Given the description of an element on the screen output the (x, y) to click on. 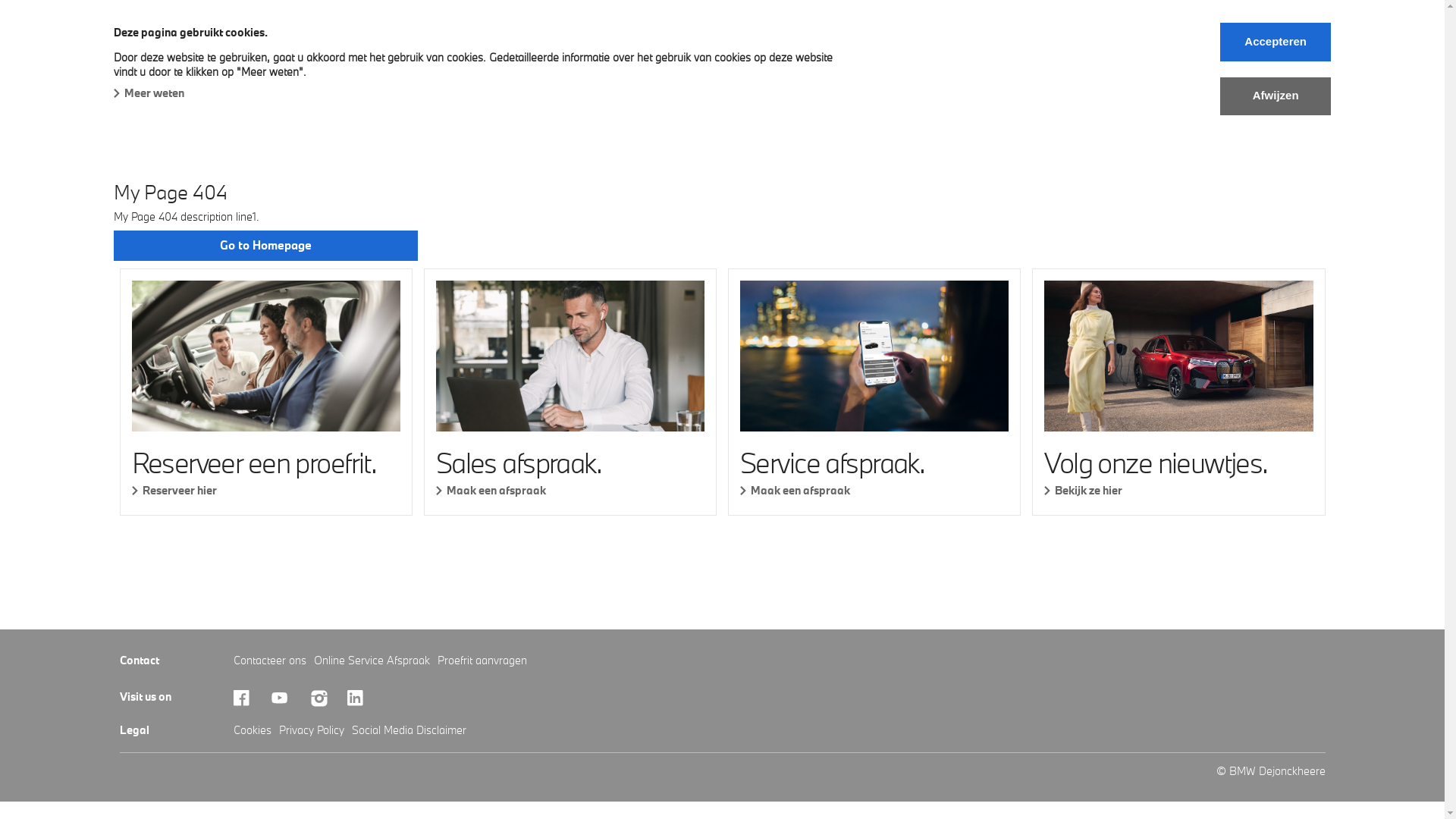
Nieuwe wagens Element type: text (163, 63)
Maak een afspraak Element type: text (874, 489)
Skip to main content Element type: text (0, 0)
BMW Financial Services Element type: text (548, 63)
Contact Element type: text (780, 63)
Afwijzen Element type: text (1275, 95)
Online Service Afspraak Element type: text (371, 659)
Maak een afspraak Element type: text (570, 489)
BMW Dejonckheere Element type: text (169, 31)
Accepteren Element type: text (1275, 41)
Proefrit aanvragen Element type: text (481, 659)
Go to Homepage Element type: text (265, 245)
Reserveer hier Element type: text (265, 489)
Bekijk ze hier Element type: text (1178, 489)
Snel leverbare wagens Element type: text (301, 63)
Jobs Element type: text (717, 63)
Contacteer ons Element type: text (269, 659)
Privacy Policy Element type: text (311, 729)
Meer weten Element type: text (148, 92)
Cookies Element type: text (252, 729)
Naverkoop Element type: text (424, 63)
Social Media Disclaimer Element type: text (408, 729)
News Element type: text (659, 63)
